Given the description of an element on the screen output the (x, y) to click on. 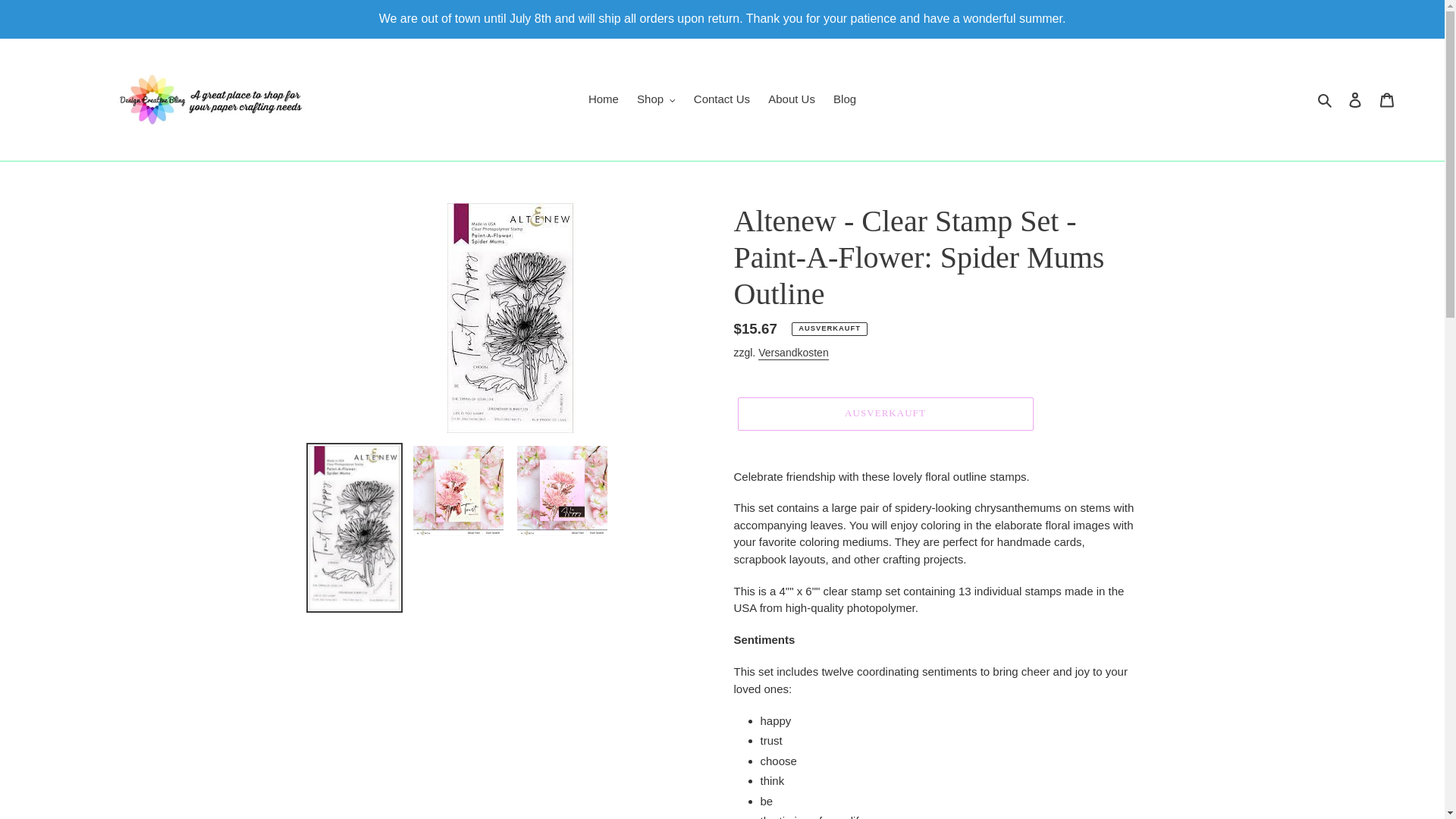
Shop (655, 99)
About Us (791, 99)
Contact Us (721, 99)
Suchen (1326, 99)
Blog (844, 99)
Home (603, 99)
